Given the description of an element on the screen output the (x, y) to click on. 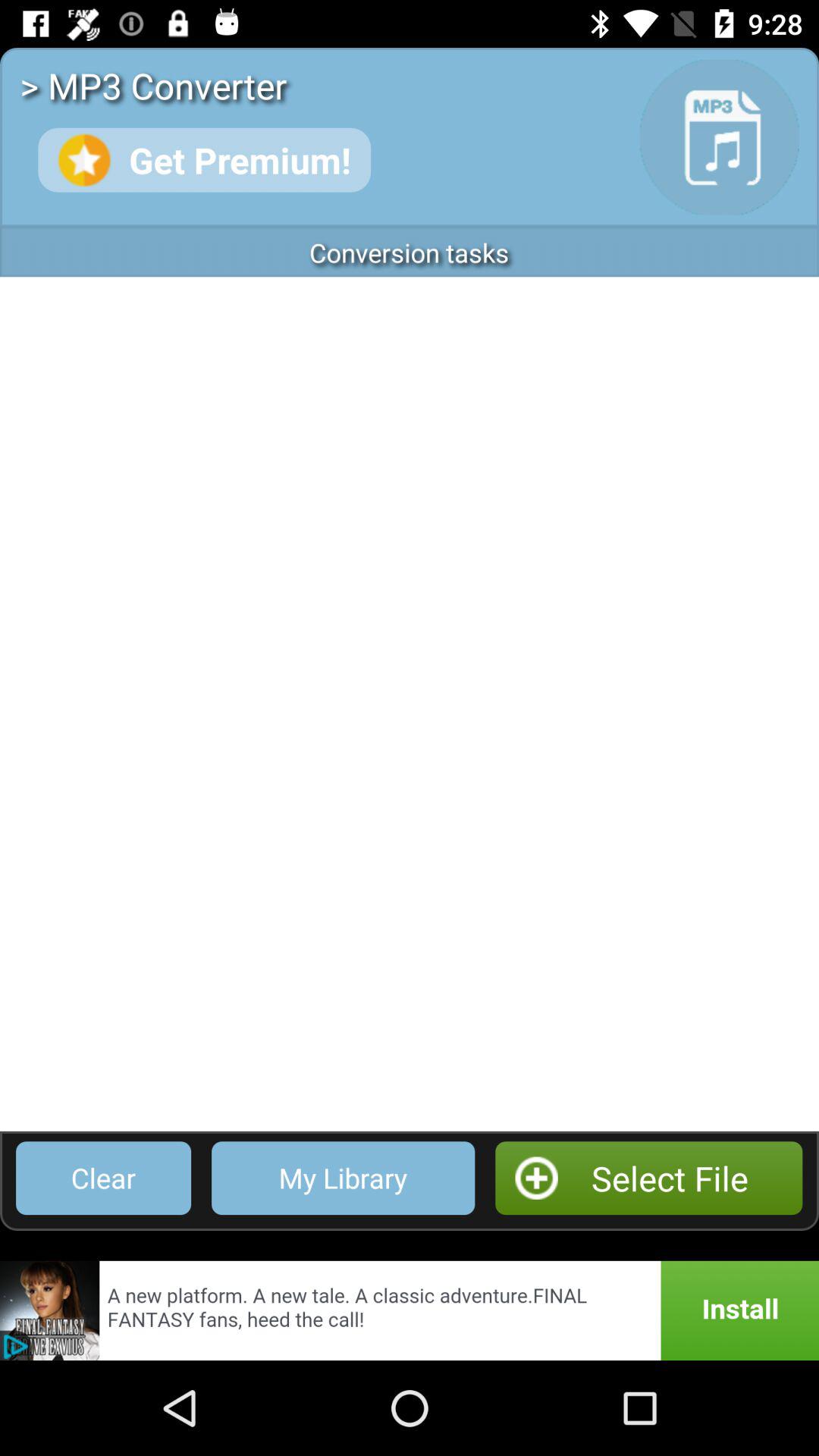
tap the clear (103, 1177)
